Given the description of an element on the screen output the (x, y) to click on. 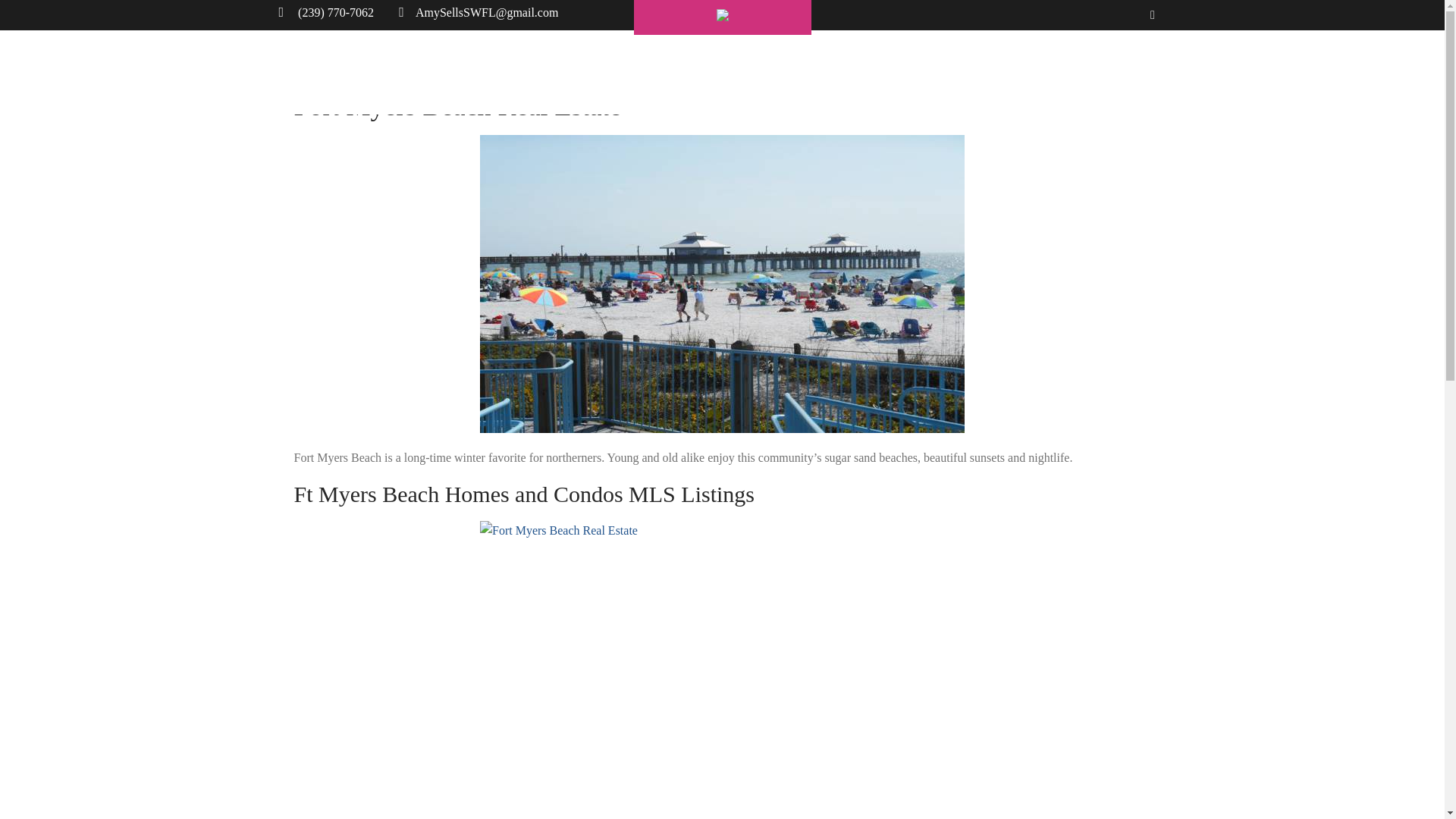
Property Search (643, 81)
Top of Page (1406, 784)
Welcome (750, 81)
About Amy (530, 81)
Neighborhoods (855, 81)
Home (448, 81)
